Given the description of an element on the screen output the (x, y) to click on. 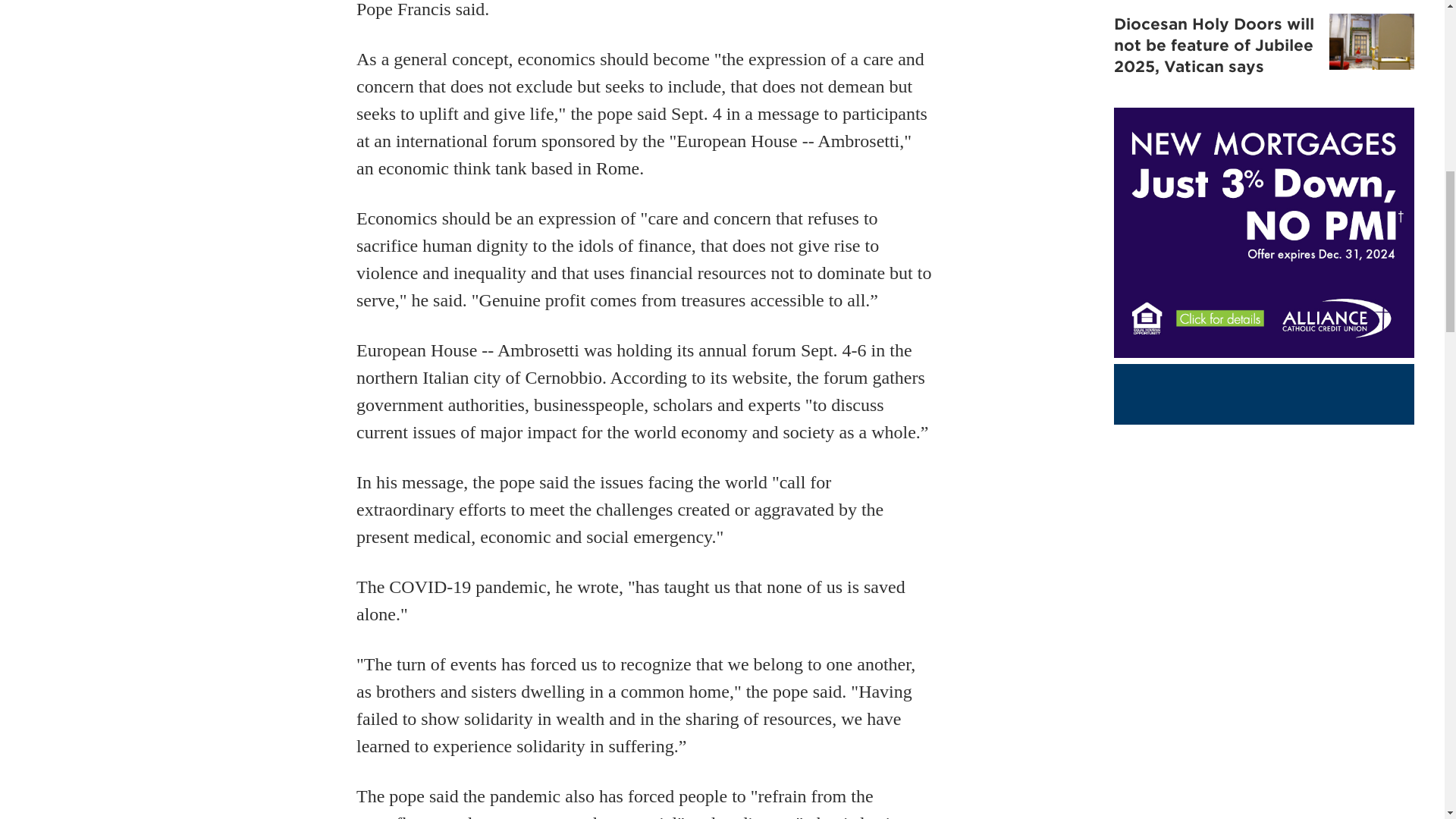
ACCU: July-Aug Article Sidebar (1263, 232)
